Given the description of an element on the screen output the (x, y) to click on. 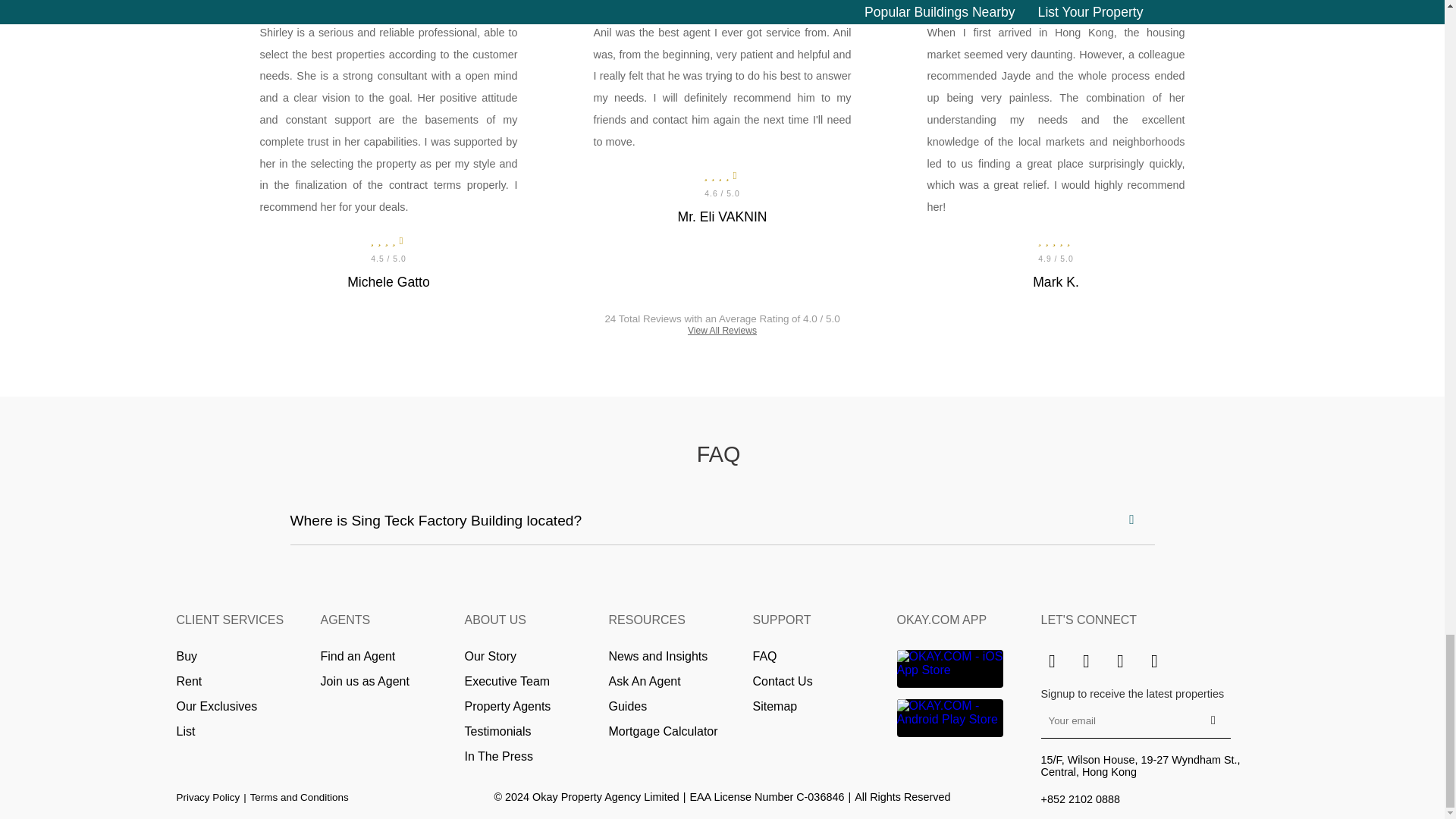
Facebook (1086, 661)
Instagram (1051, 661)
YouTube (1154, 661)
Linkedin (1119, 661)
